Given the description of an element on the screen output the (x, y) to click on. 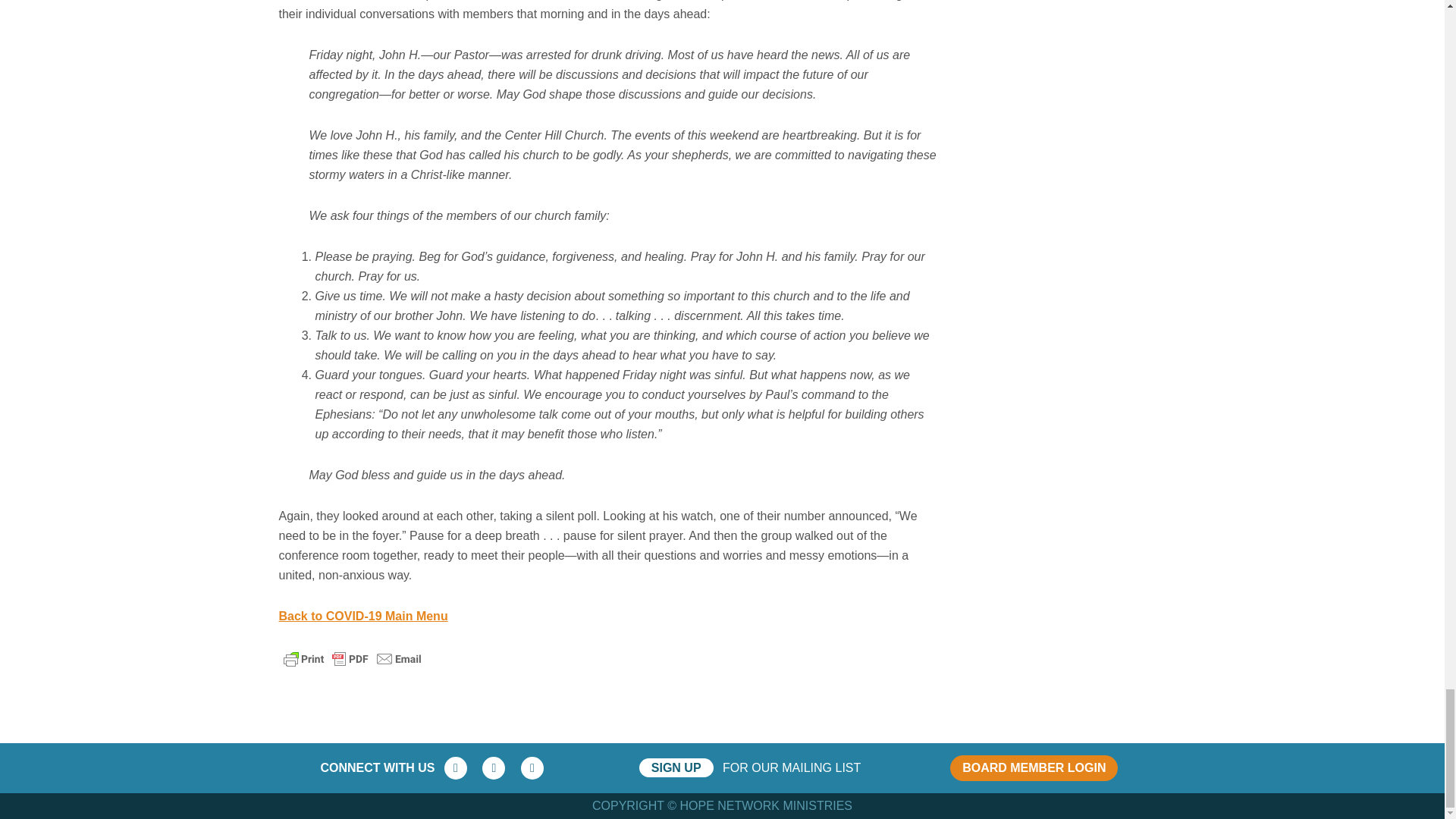
Back to COVID-19 Main Menu (363, 615)
